Given the description of an element on the screen output the (x, y) to click on. 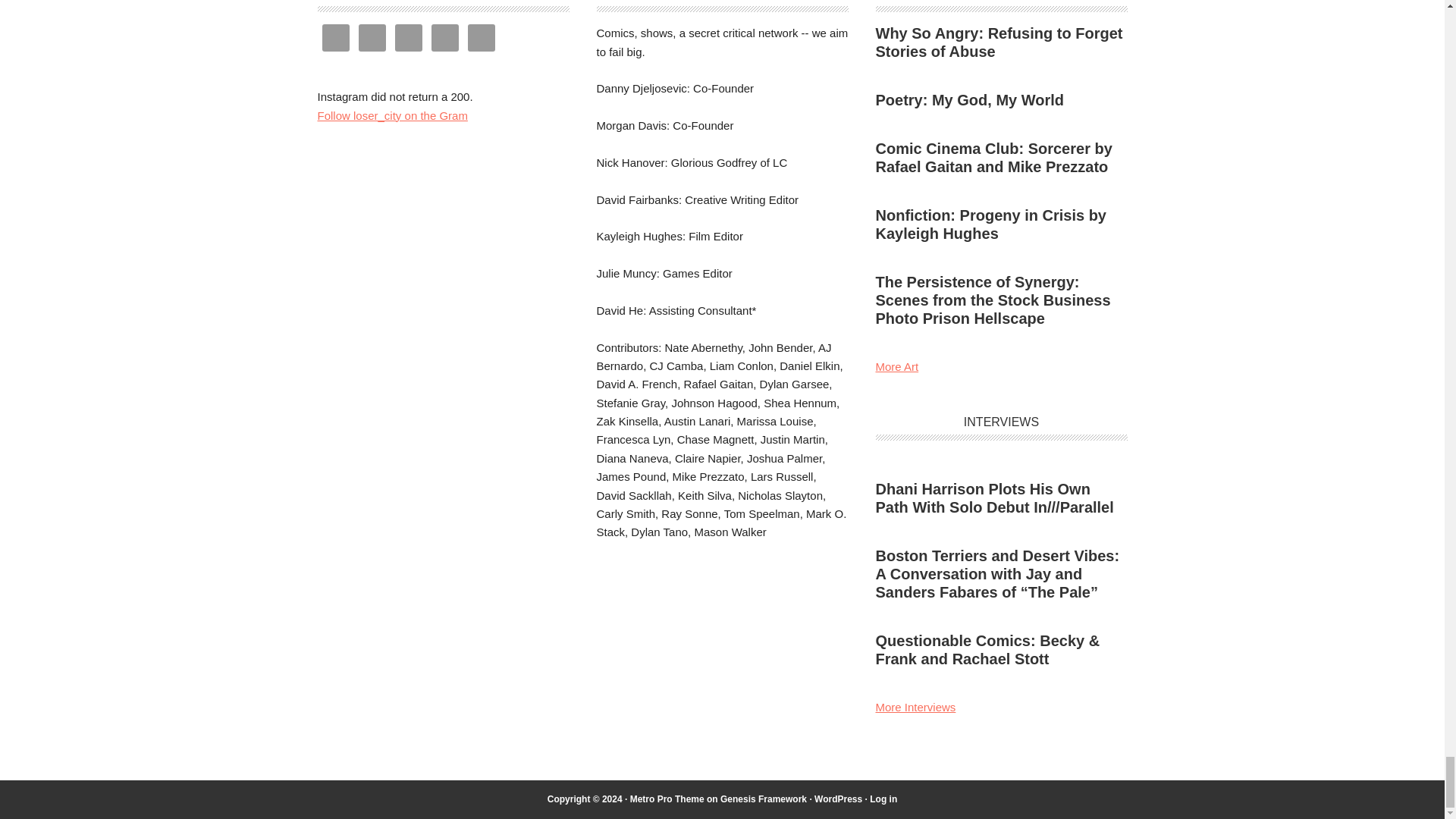
Art (896, 366)
Interviews (915, 707)
